Given the description of an element on the screen output the (x, y) to click on. 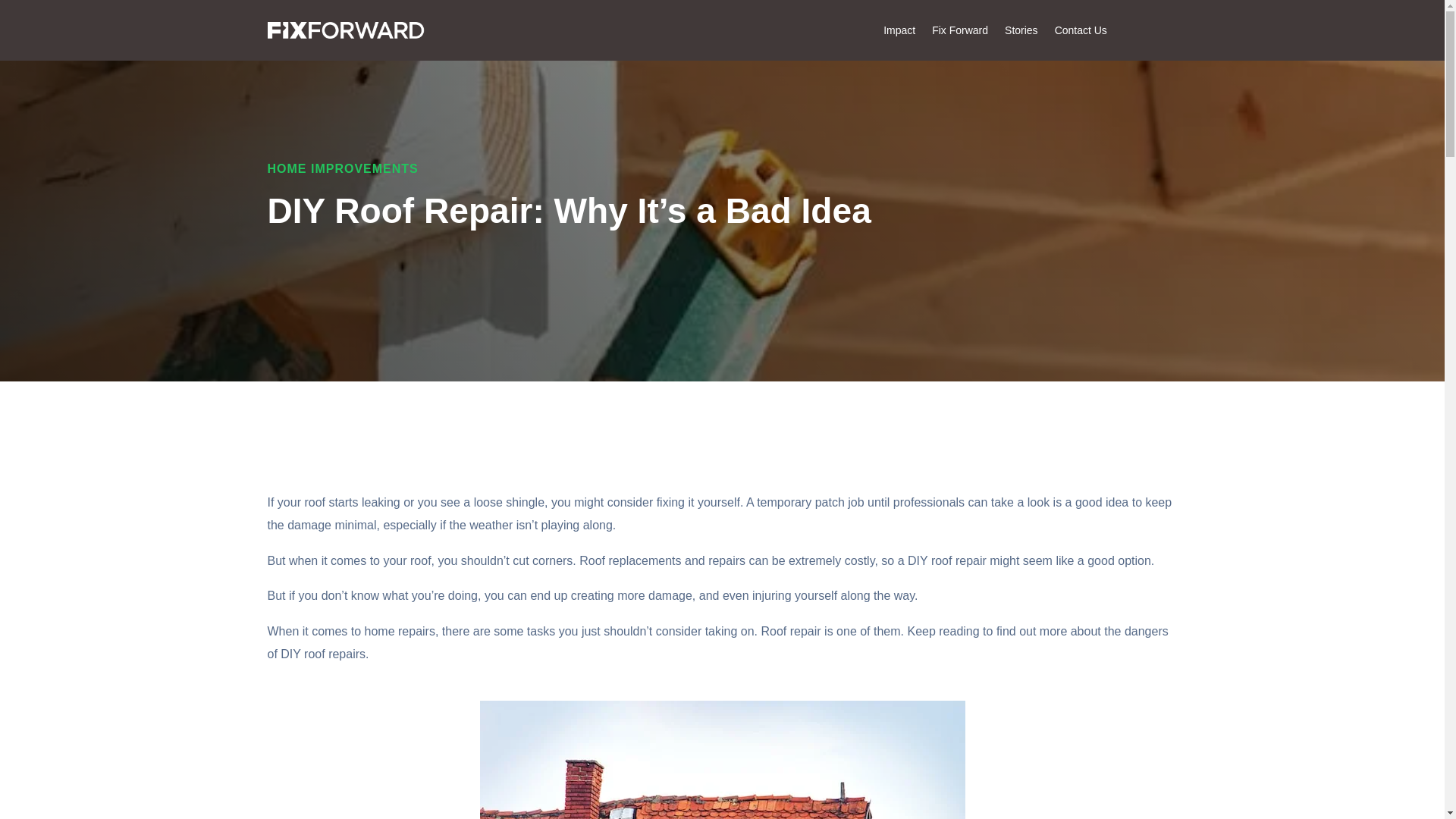
Stories (1021, 33)
Impact (899, 33)
Contact Us (1080, 33)
Fix Forward (959, 33)
